Given the description of an element on the screen output the (x, y) to click on. 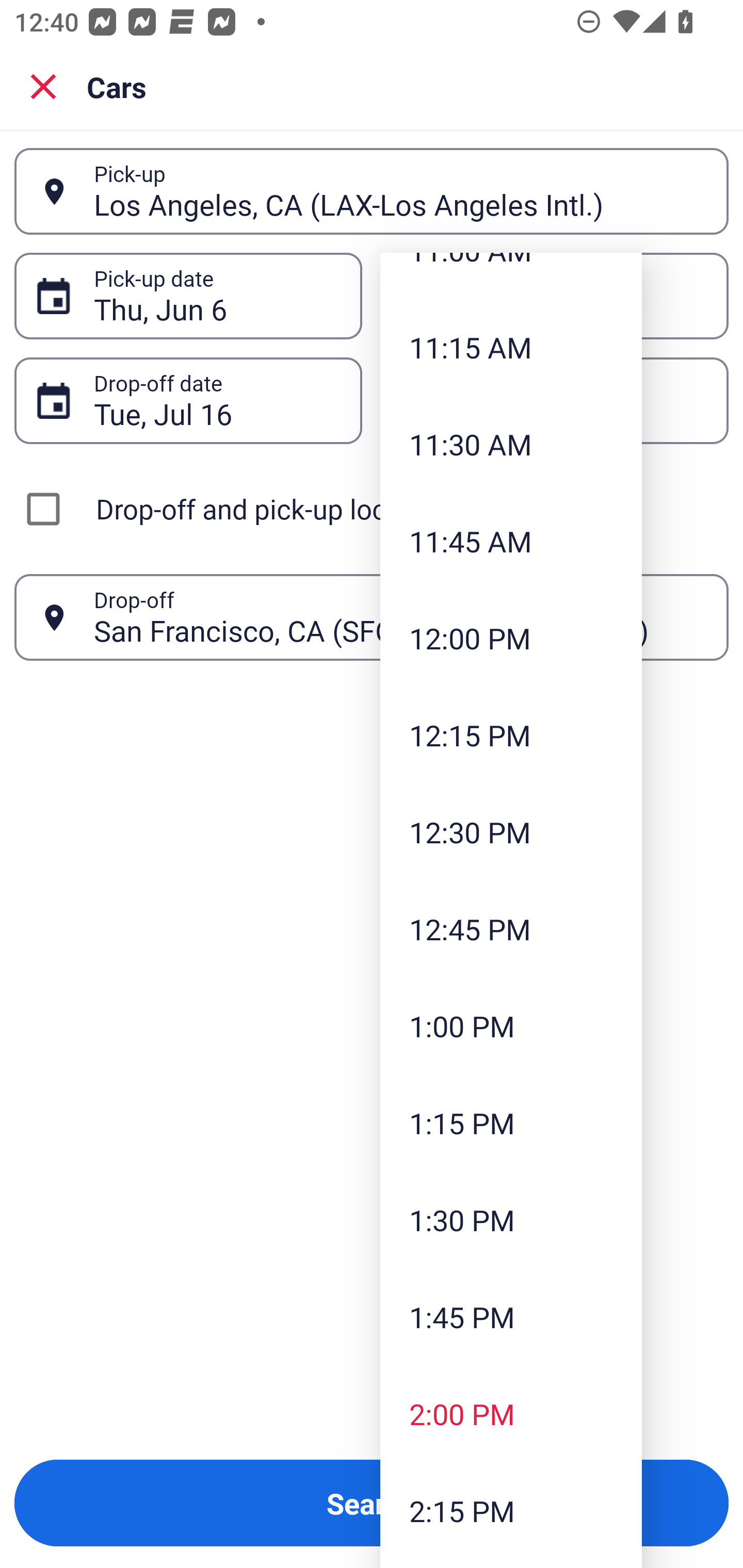
11:15 AM (510, 346)
11:30 AM (510, 443)
11:45 AM (510, 540)
12:00 PM (510, 637)
12:15 PM (510, 735)
12:30 PM (510, 832)
12:45 PM (510, 928)
1:00 PM (510, 1025)
1:15 PM (510, 1122)
1:30 PM (510, 1219)
1:45 PM (510, 1316)
2:00 PM (510, 1413)
2:15 PM (510, 1510)
